Given the description of an element on the screen output the (x, y) to click on. 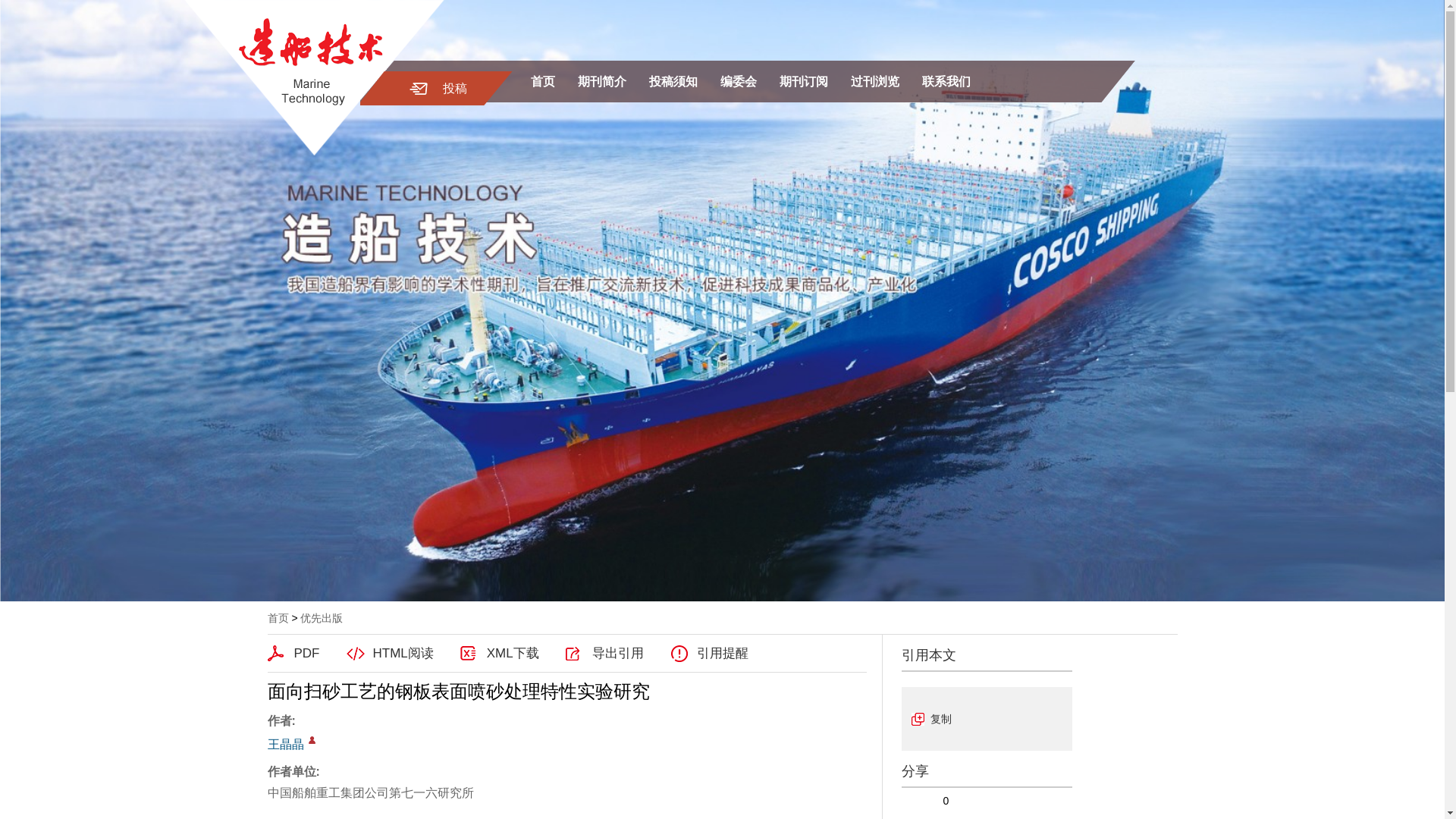
PDF (292, 653)
